Given the description of an element on the screen output the (x, y) to click on. 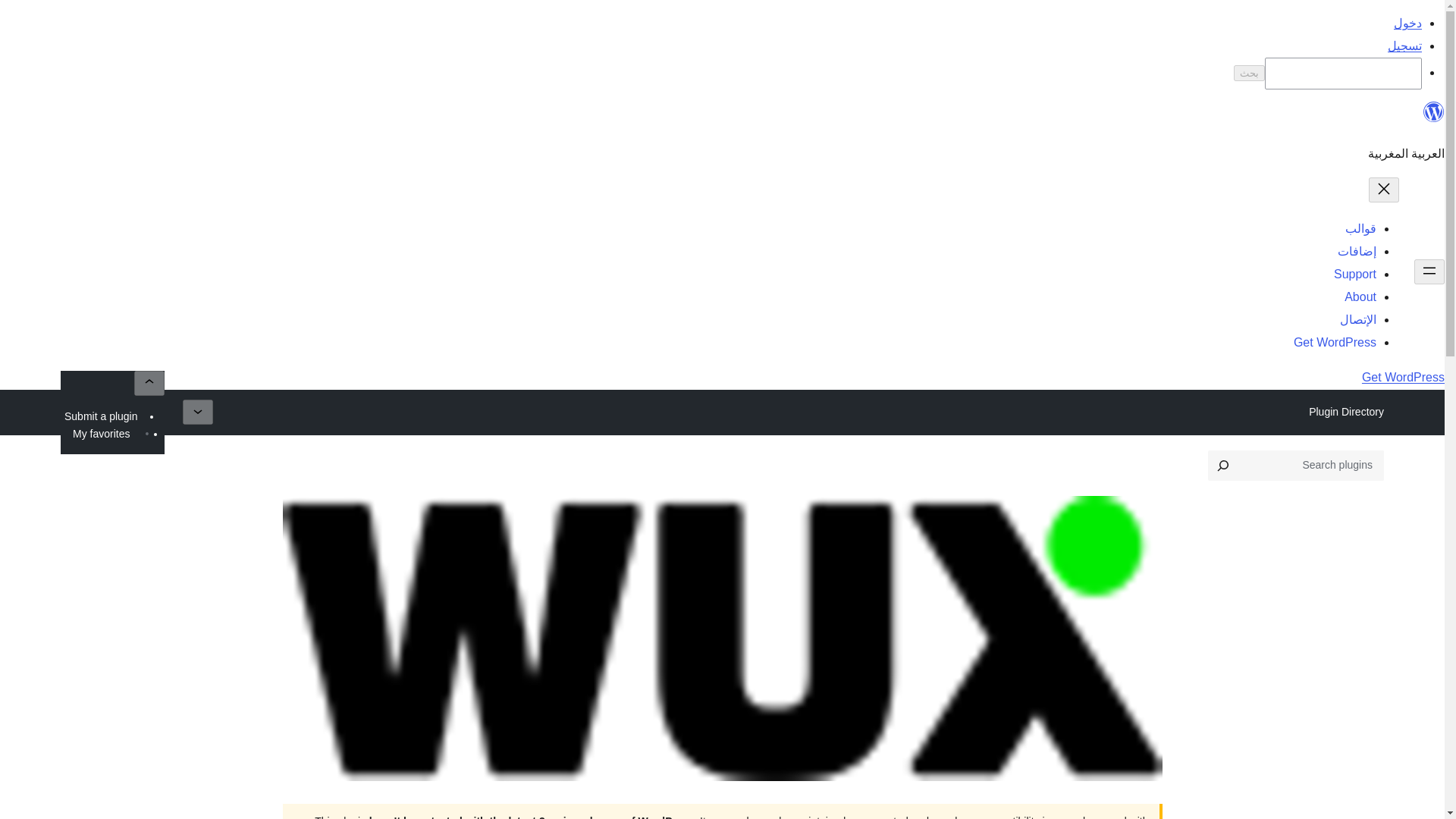
Plugin Directory (1345, 411)
My favorites (100, 433)
Submit a plugin (101, 415)
Get WordPress (1334, 341)
About (1359, 296)
Support (1354, 273)
